Given the description of an element on the screen output the (x, y) to click on. 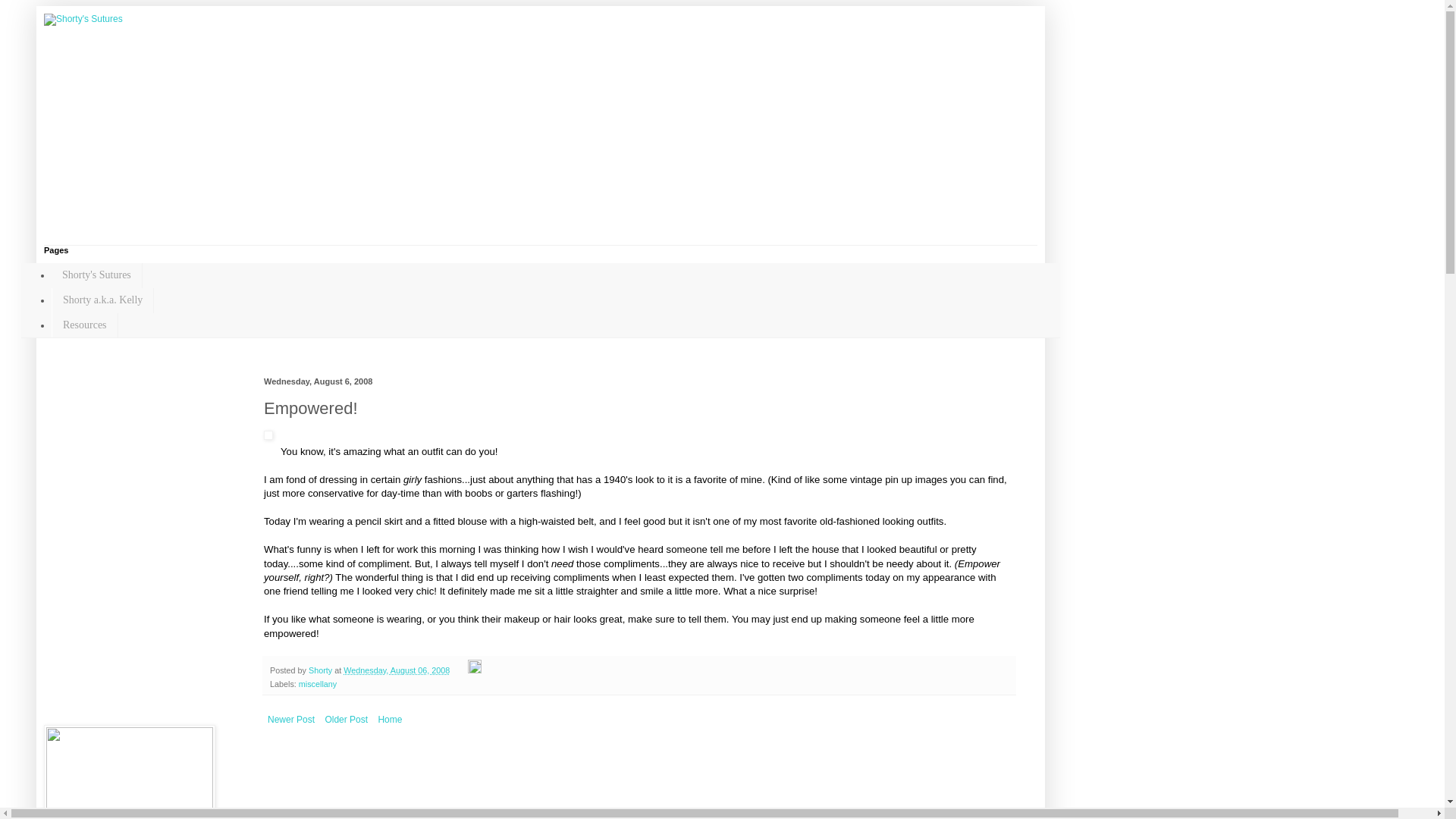
Shorty's Sutures (96, 275)
Newer Post (290, 719)
Edit Post (474, 669)
Resources (83, 325)
Shorty a.k.a. Kelly (102, 300)
Email Post (459, 669)
miscellany (317, 683)
author profile (321, 669)
Older Post (345, 719)
Shorty (321, 669)
Wednesday, August 06, 2008 (396, 669)
Home (390, 719)
permanent link (396, 669)
Older Post (345, 719)
Newer Post (290, 719)
